Given the description of an element on the screen output the (x, y) to click on. 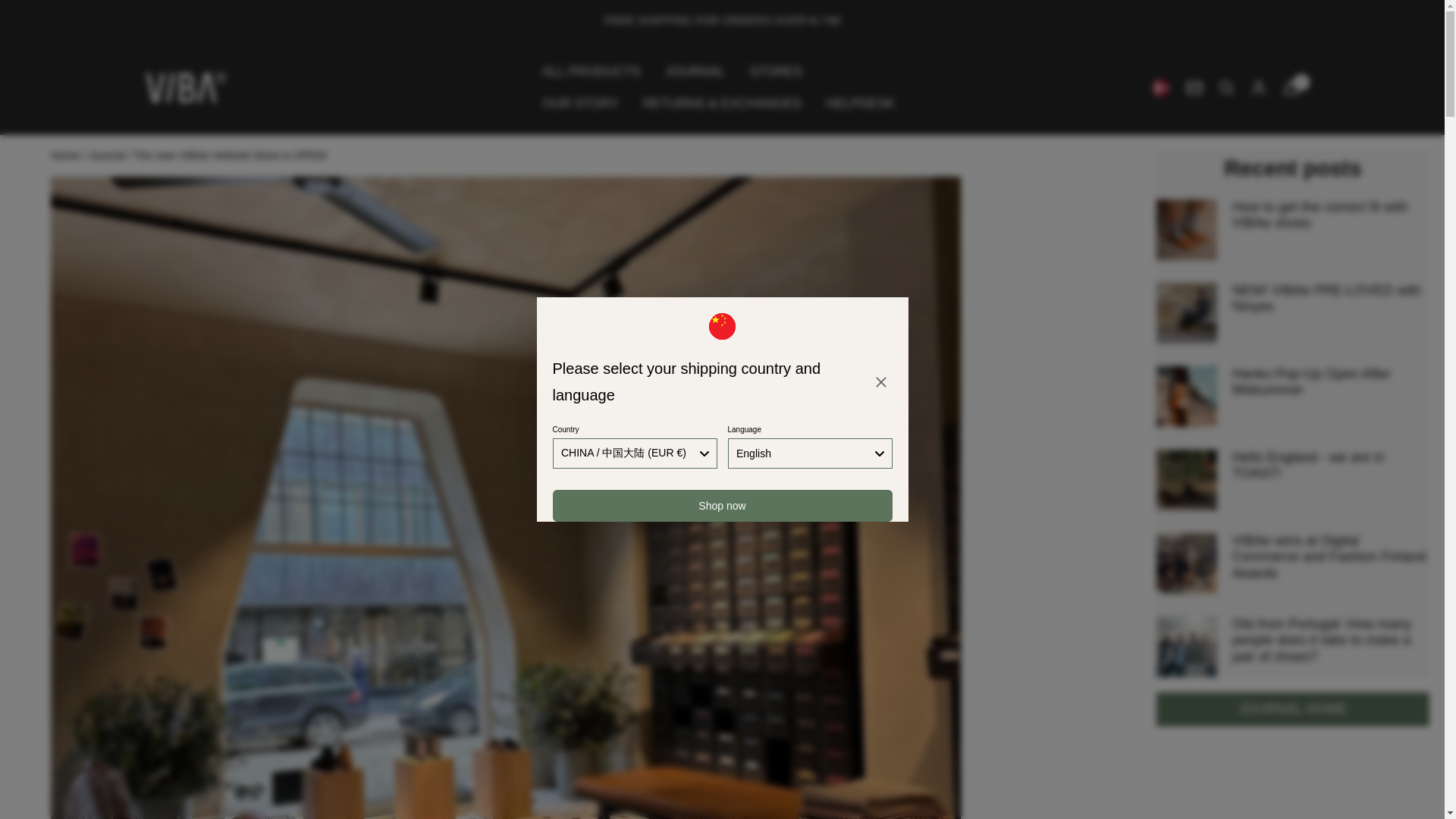
Home (65, 155)
VIBAe (185, 87)
Journal (105, 155)
Hello England - we are in TOAST! (1330, 465)
NEW! VIBAe PRE-LOVED with Ninyes (1330, 298)
Shop now (721, 505)
HELPDESK (860, 103)
Home (65, 155)
JOURNAL HOME (1292, 709)
OUR STORY (579, 103)
How to get the correct fit with VIBAe shoes (1330, 215)
English (810, 453)
ALL PRODUCTS (590, 71)
JOURNAL (695, 71)
VIBAe wins at Digital Commerce and Fashion Finland Awards (1330, 557)
